Given the description of an element on the screen output the (x, y) to click on. 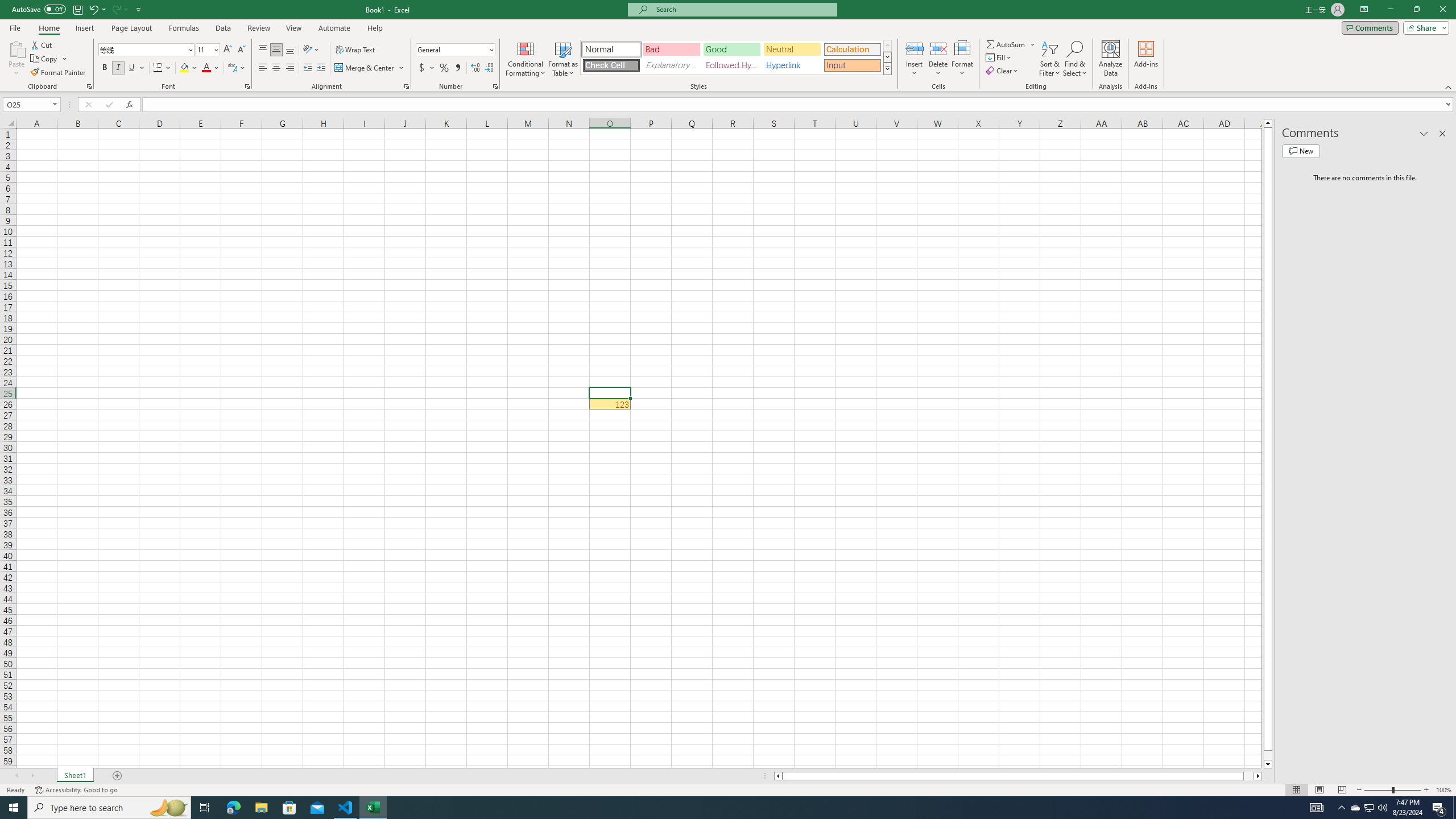
Calculation (852, 49)
Percent Style (443, 67)
Input (852, 65)
Good (731, 49)
Class: MsoCommandBar (728, 45)
Find & Select (1075, 58)
Bottom Align (290, 49)
Orientation (311, 49)
